Given the description of an element on the screen output the (x, y) to click on. 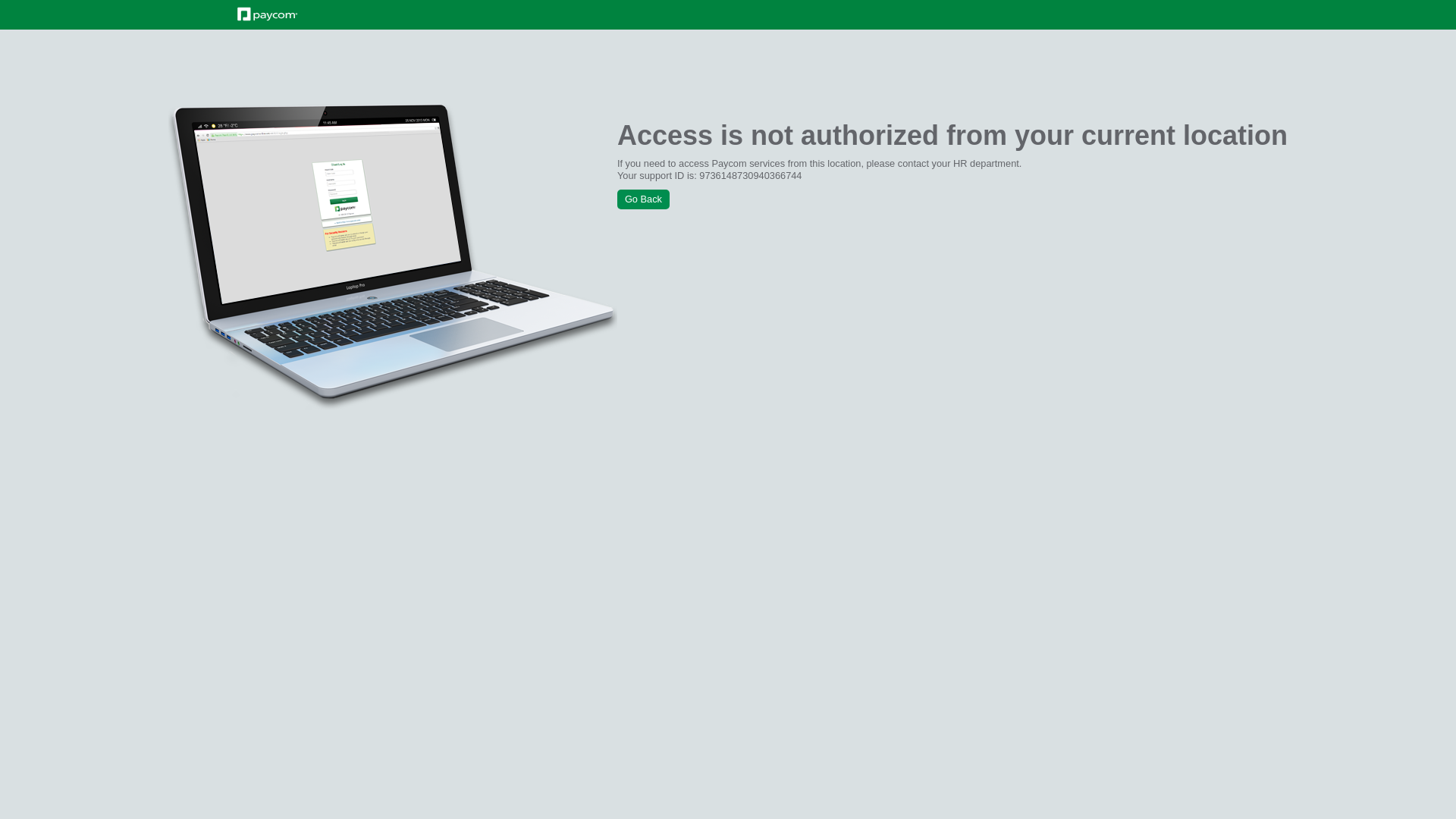
Go Back (643, 199)
